Given the description of an element on the screen output the (x, y) to click on. 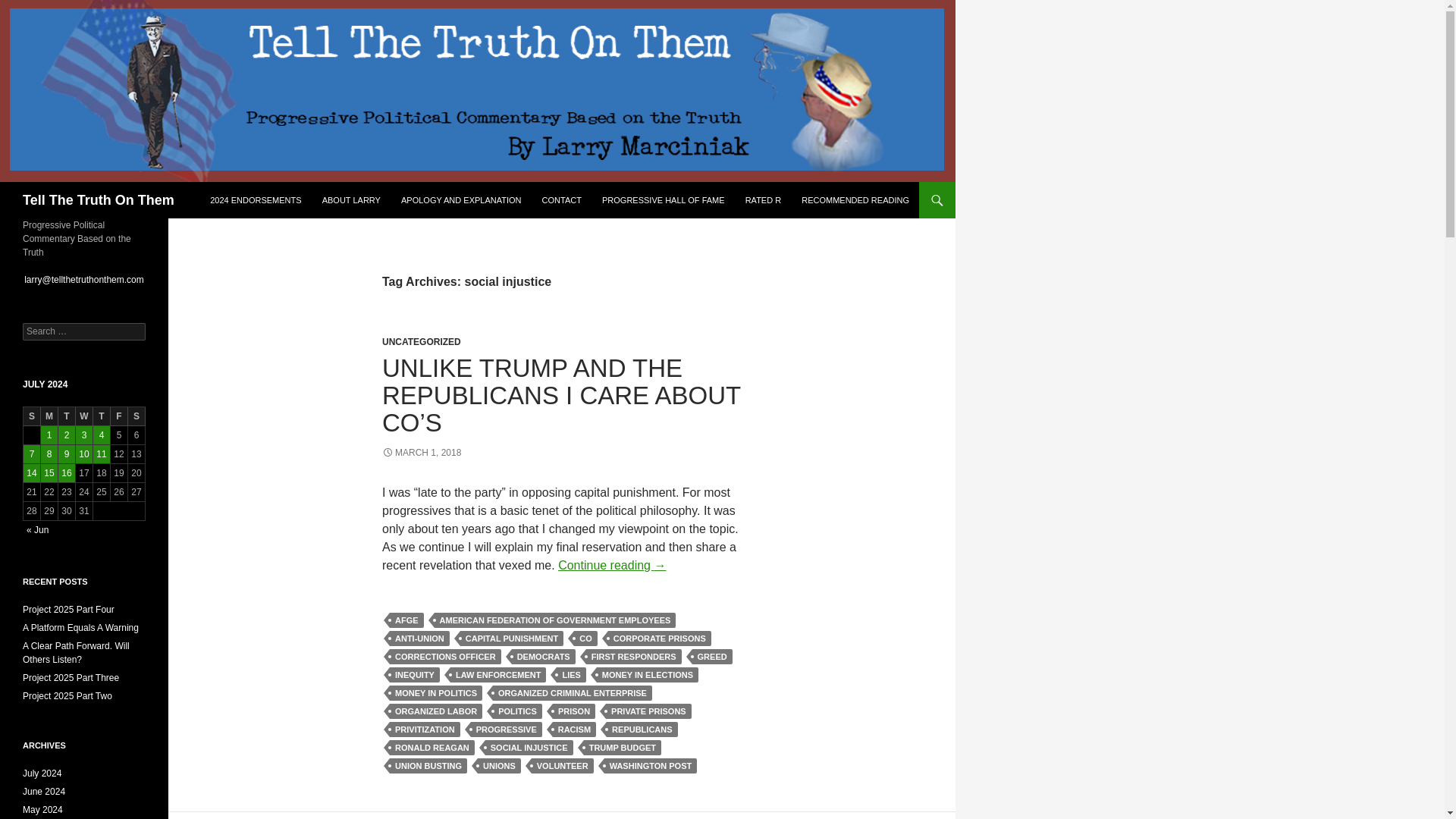
ANTI-UNION (419, 638)
AMERICAN FEDERATION OF GOVERNMENT EMPLOYEES (555, 620)
AFGE (406, 620)
MARCH 1, 2018 (421, 452)
2024 ENDORSEMENTS (255, 199)
GREED (712, 656)
Thursday (101, 416)
Wednesday (84, 416)
POLITICS (517, 711)
Monday (49, 416)
ABOUT LARRY (351, 199)
DEMOCRATS (543, 656)
CONTACT (561, 199)
LIES (570, 674)
